Given the description of an element on the screen output the (x, y) to click on. 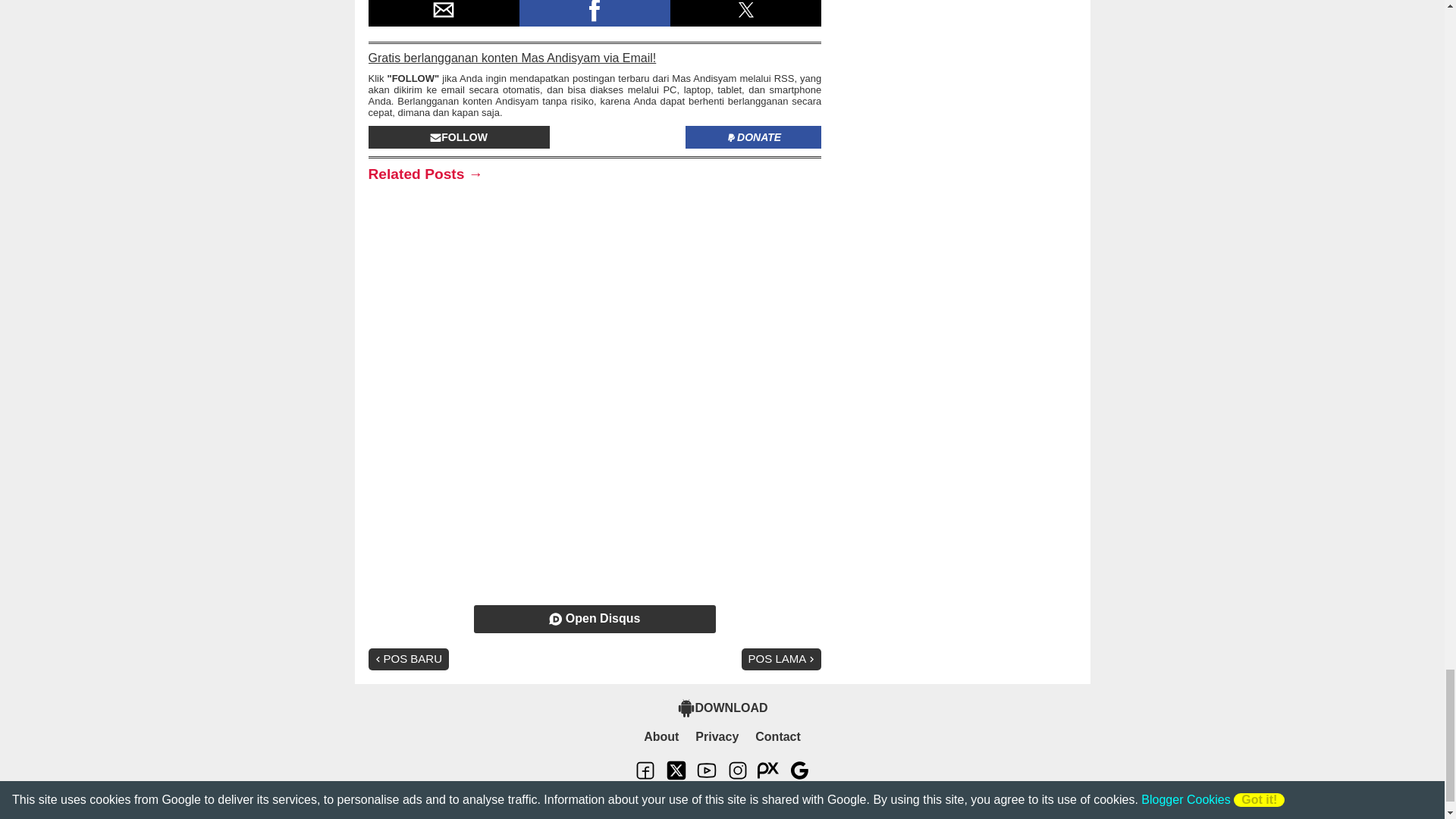
POS BARU (408, 659)
POS LAMA (781, 659)
FOLLOW (459, 137)
DONATE (753, 137)
